Given the description of an element on the screen output the (x, y) to click on. 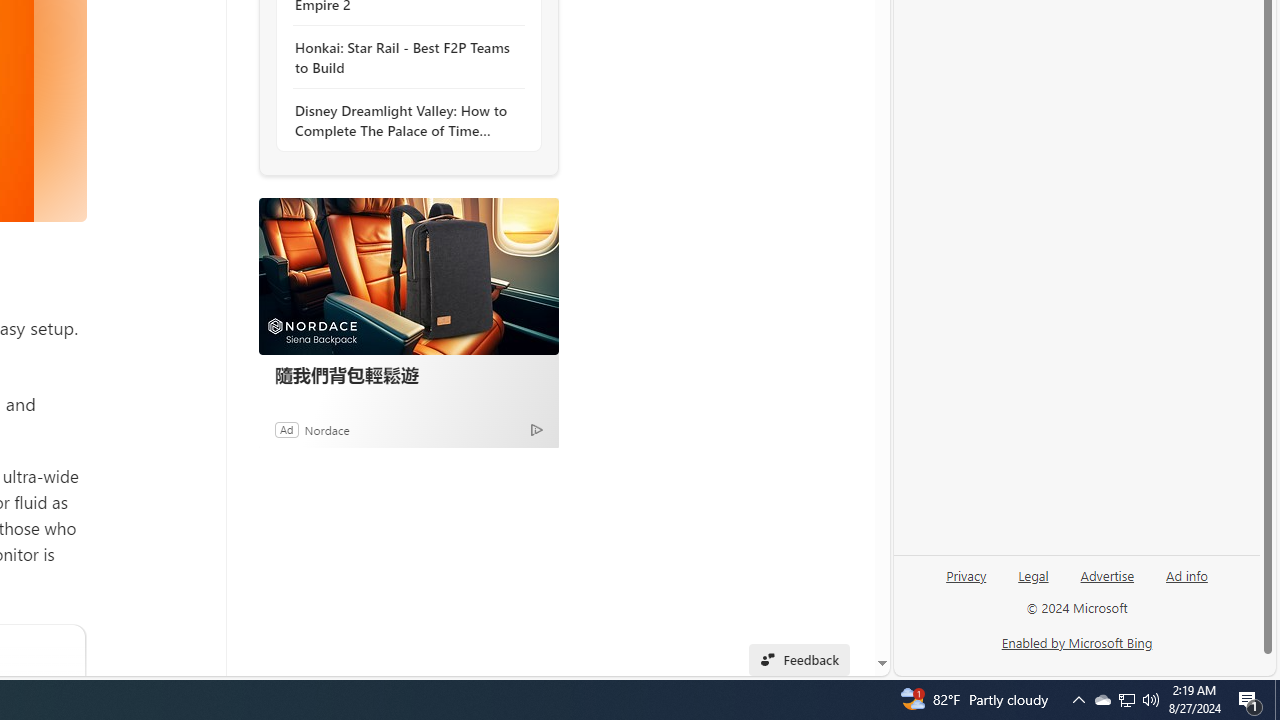
Privacy (965, 574)
Feedback (798, 659)
Ad info (1186, 583)
Privacy (966, 583)
Ad Choice (535, 429)
Legal (1033, 574)
Honkai: Star Rail - Best F2P Teams to Build (403, 57)
Ad info (1187, 574)
Advertise (1106, 583)
Legal (1033, 583)
Ad (286, 429)
Nordace (326, 429)
